Given the description of an element on the screen output the (x, y) to click on. 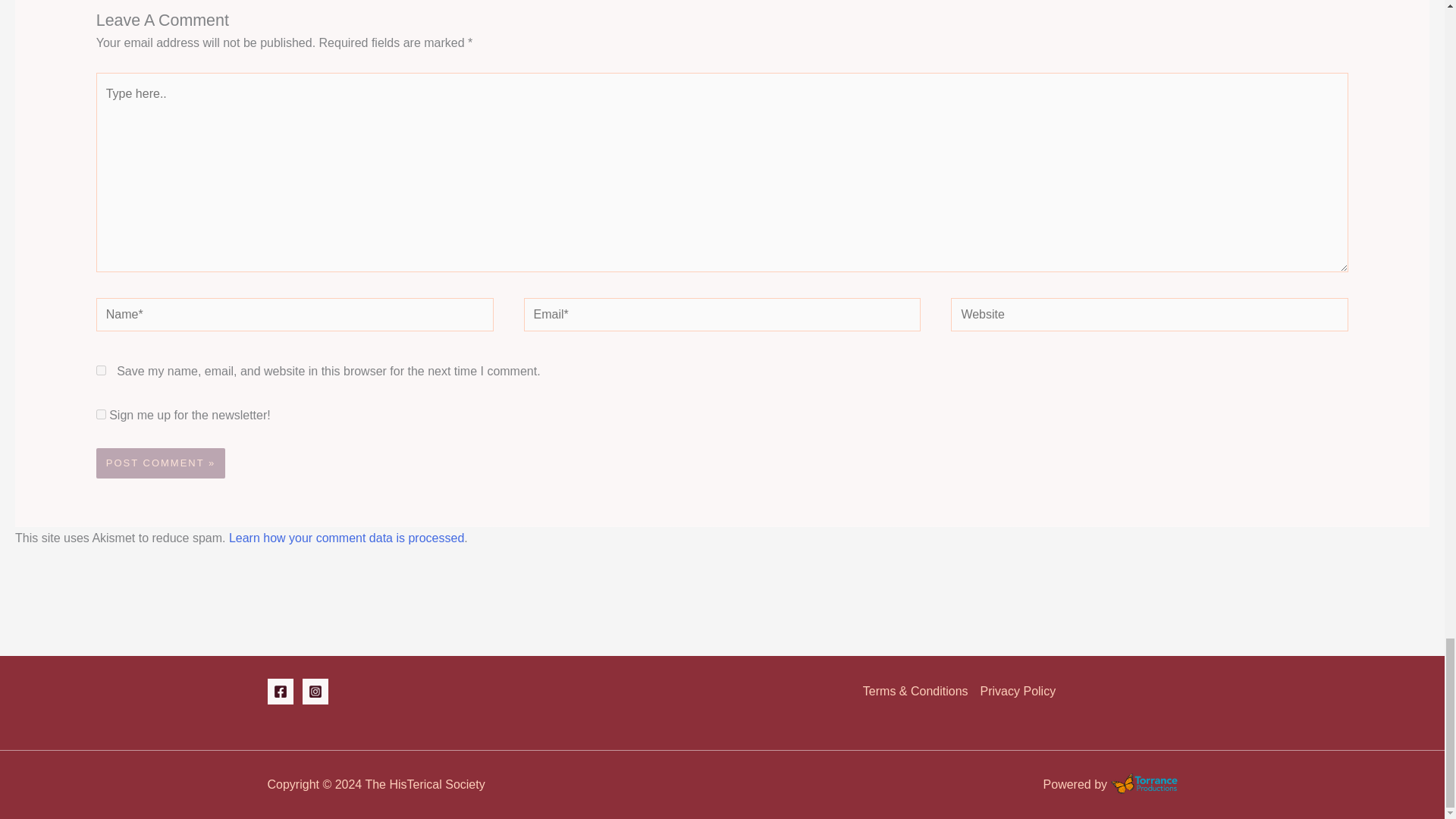
yes (101, 414)
yes (101, 370)
